Given the description of an element on the screen output the (x, y) to click on. 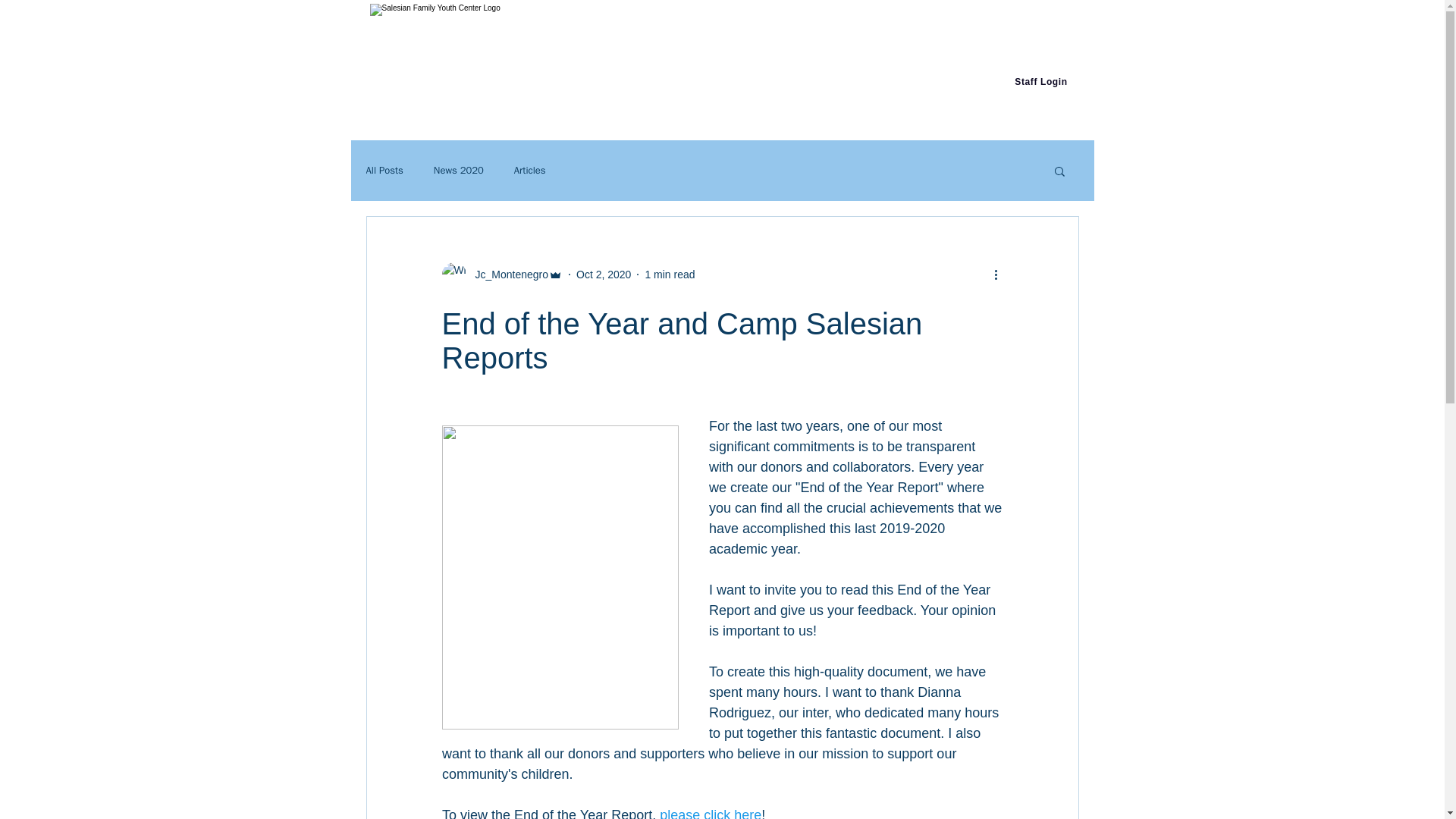
please click here (710, 813)
Oct 2, 2020 (603, 274)
Staff Login (1040, 81)
All Posts (384, 170)
Articles (529, 170)
News 2020 (458, 170)
1 min read (669, 274)
